Given the description of an element on the screen output the (x, y) to click on. 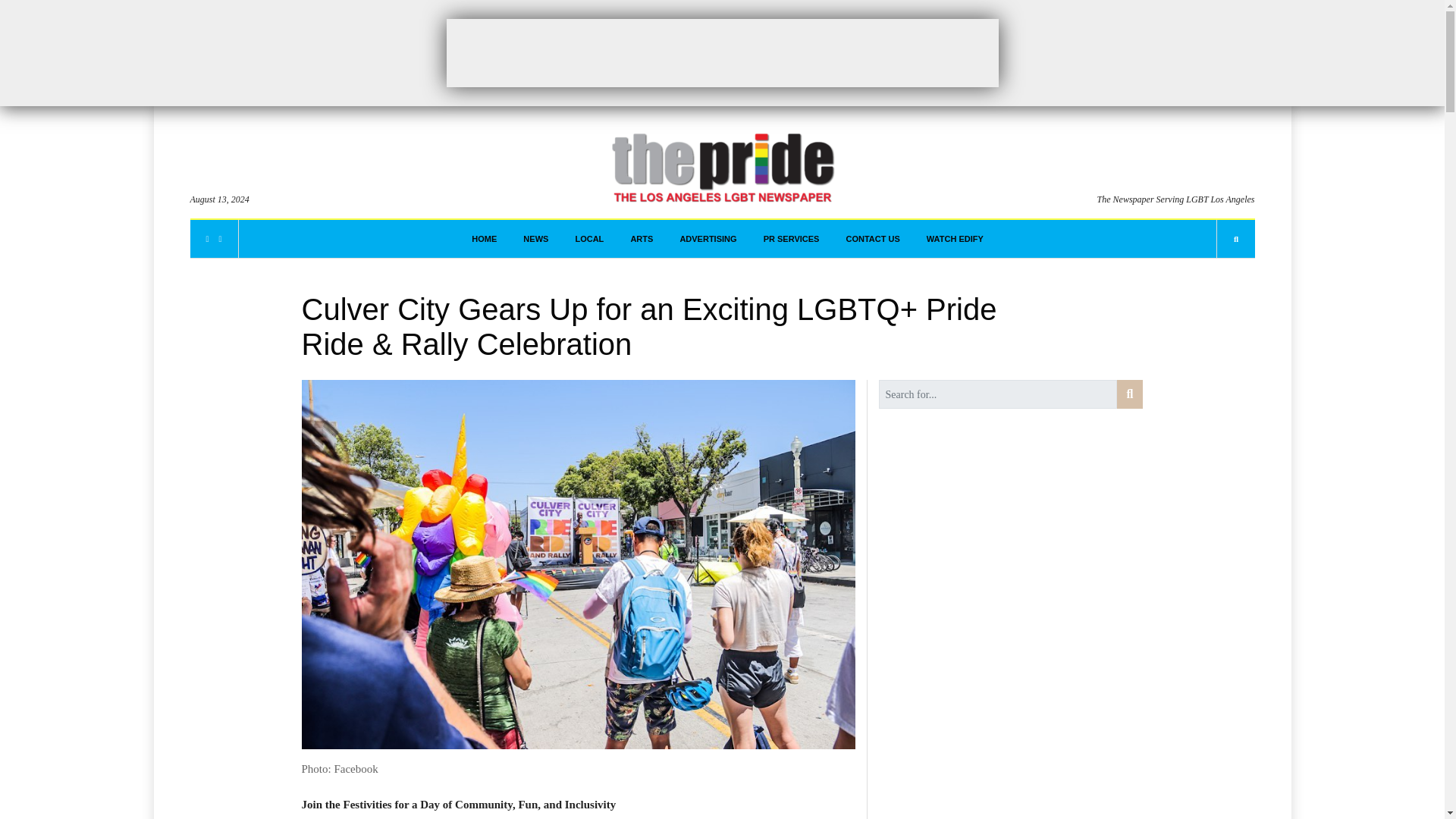
CONTACT US (872, 238)
PR SERVICES (790, 238)
WATCH EDIFY (955, 238)
ADVERTISING (707, 238)
3rd party ad content (721, 52)
